Given the description of an element on the screen output the (x, y) to click on. 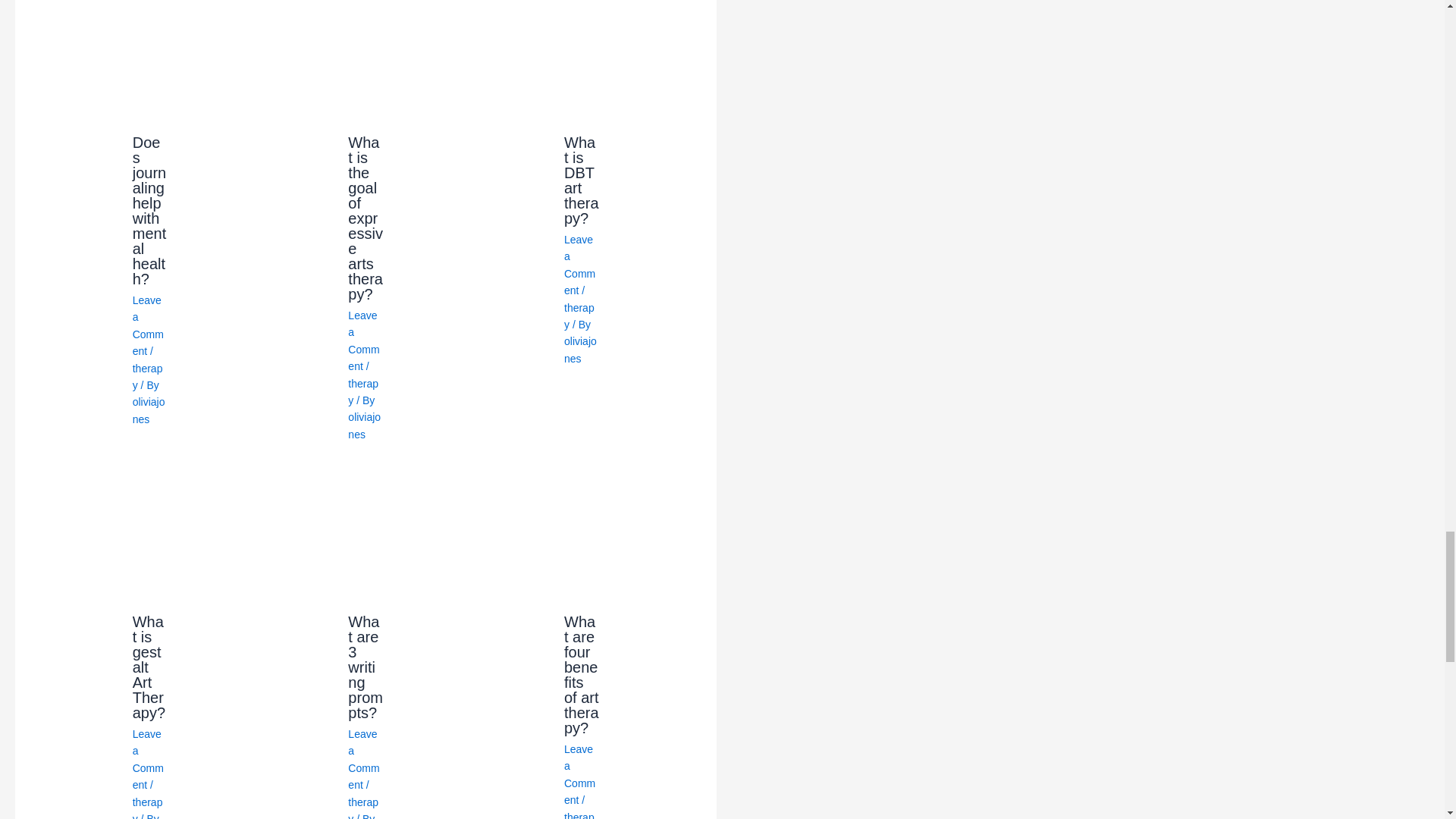
View all posts by oliviajones (363, 425)
View all posts by oliviajones (148, 410)
